Given the description of an element on the screen output the (x, y) to click on. 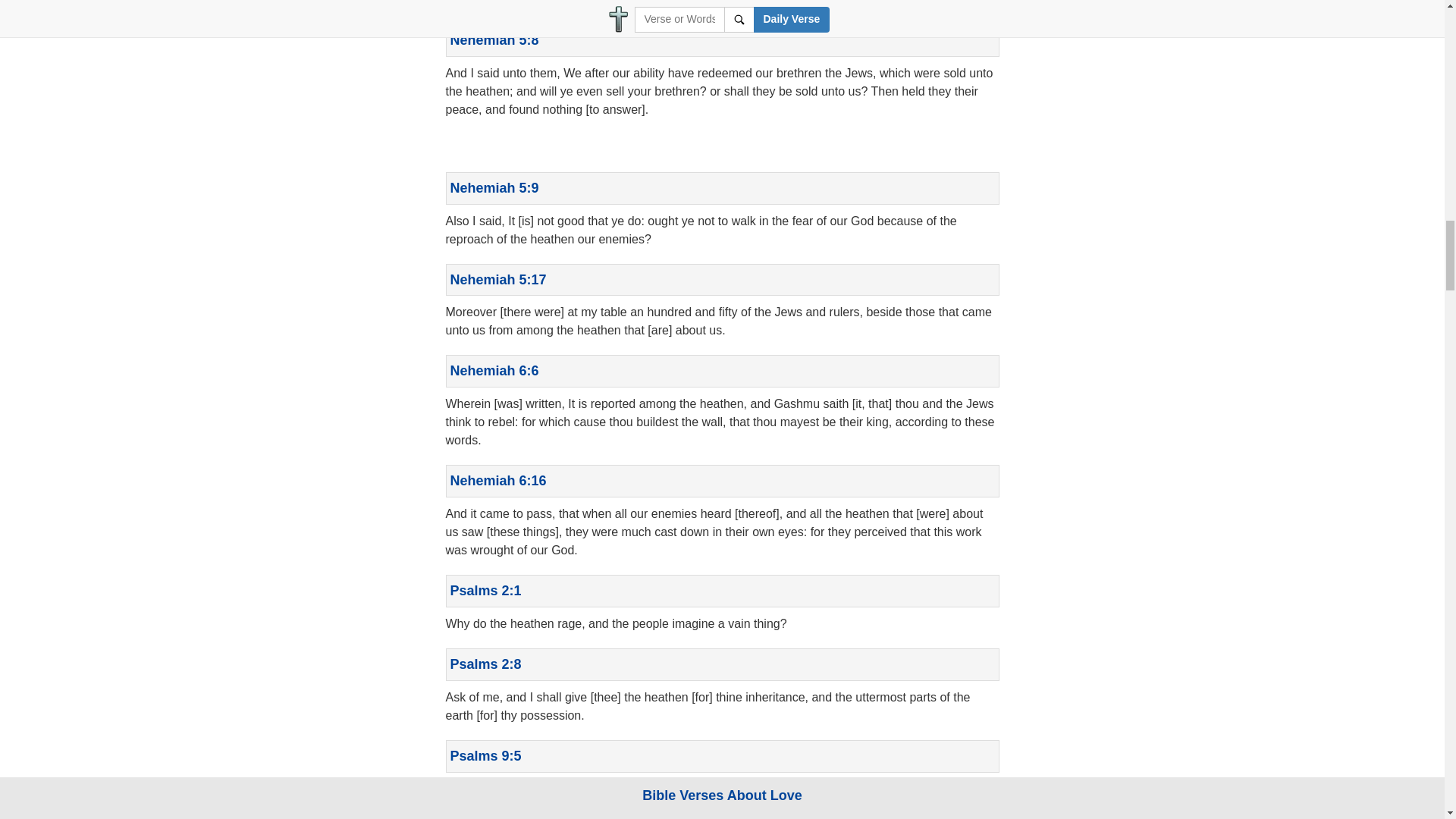
Psalms 2:8 (485, 663)
Nehemiah 6:16 (498, 480)
Nehemiah 5:9 (493, 187)
Nehemiah 6:6 (493, 370)
Psalms 9:5 (485, 755)
Nehemiah 5:17 (498, 279)
Psalms 2:1 (485, 590)
Nehemiah 5:8 (493, 39)
